Given the description of an element on the screen output the (x, y) to click on. 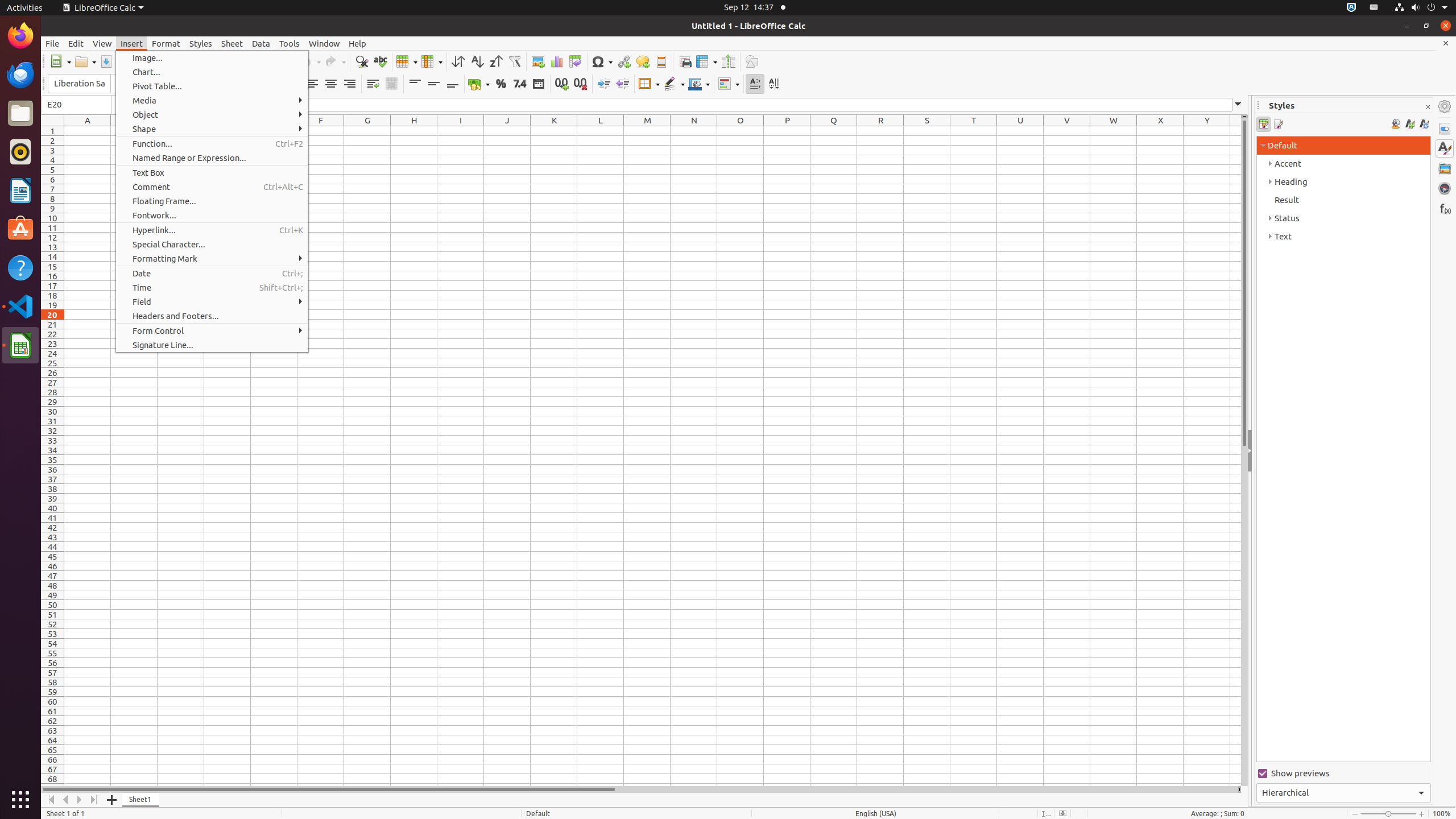
Align Center Element type: push-button (330, 83)
Date Element type: push-button (537, 83)
Conditional Element type: push-button (728, 83)
Format Element type: menu (165, 43)
:1.72/StatusNotifierItem Element type: menu (1350, 7)
